Given the description of an element on the screen output the (x, y) to click on. 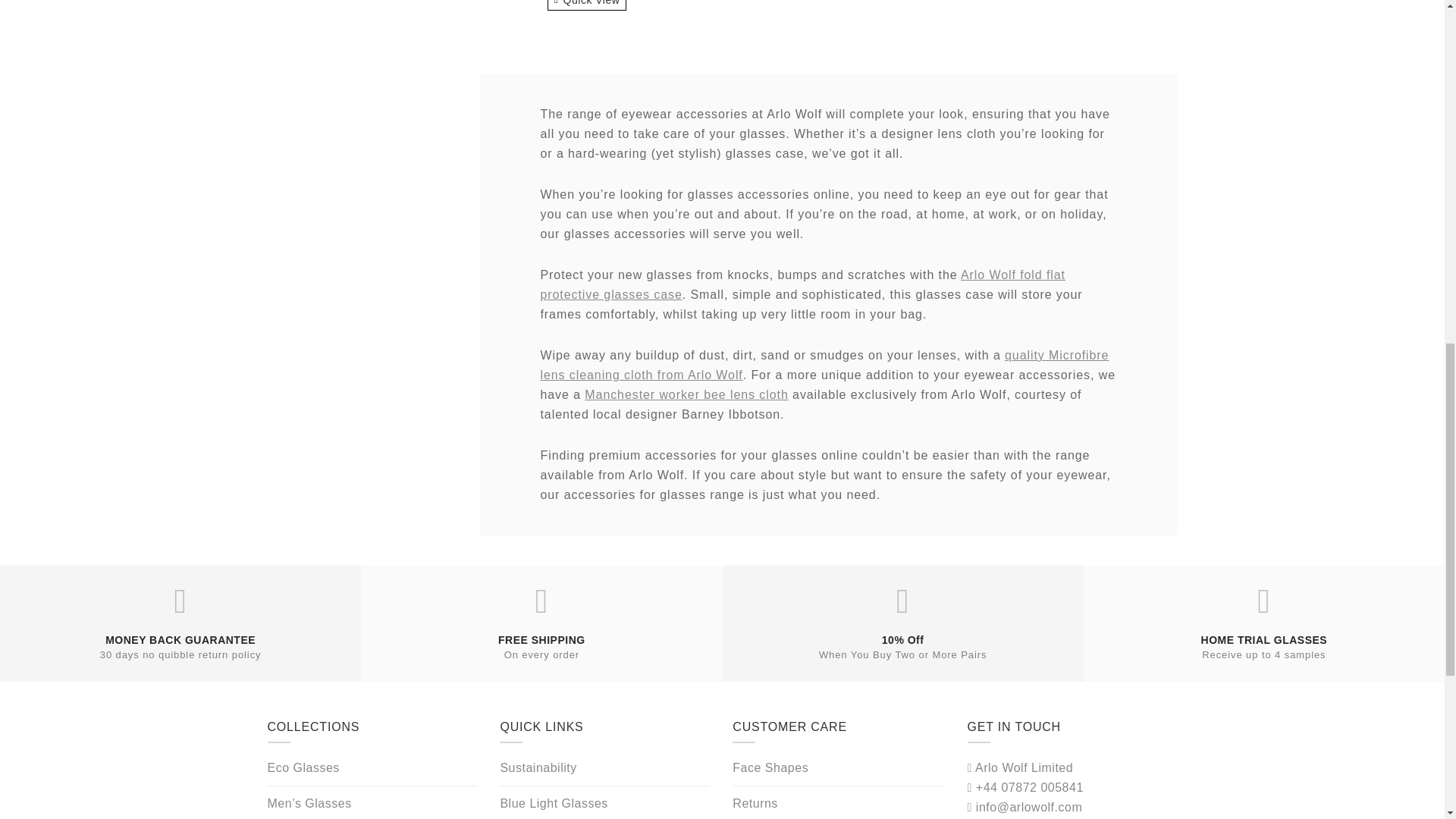
Manchester worker bee lens cloth (686, 394)
Arlo Wolf fold flat protective glasses case (802, 284)
quality Microfibre lens cleaning cloth from Arlo Wolf (824, 364)
Quick View (586, 5)
